Given the description of an element on the screen output the (x, y) to click on. 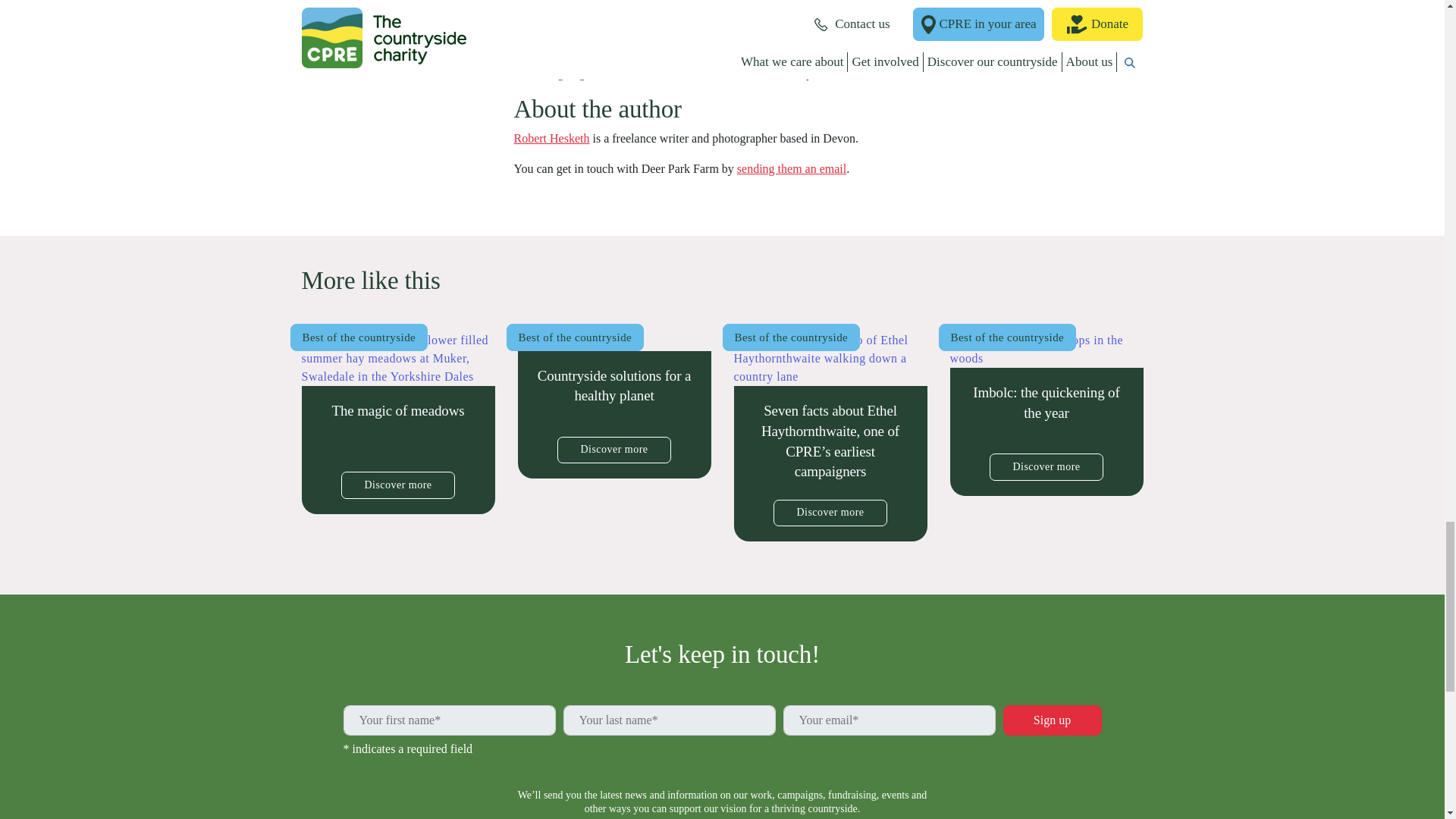
Countryside solutions for a healthy planet (613, 404)
The magic of meadows (398, 422)
Imbolc: the quickening of the year (1045, 413)
Sign up (1051, 720)
